Given the description of an element on the screen output the (x, y) to click on. 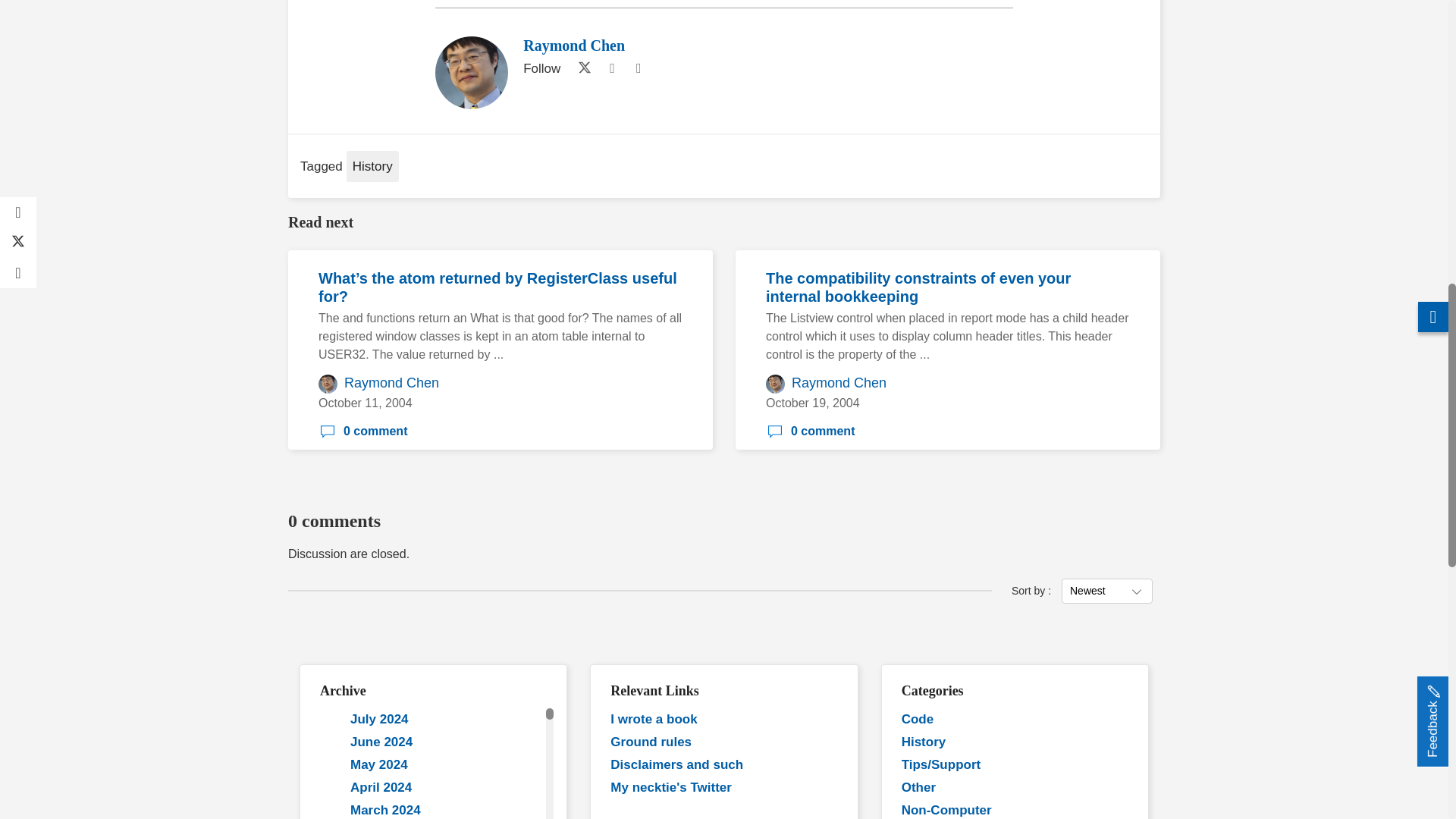
RSS Feed (637, 68)
Twitter (581, 68)
Github (611, 68)
